Given the description of an element on the screen output the (x, y) to click on. 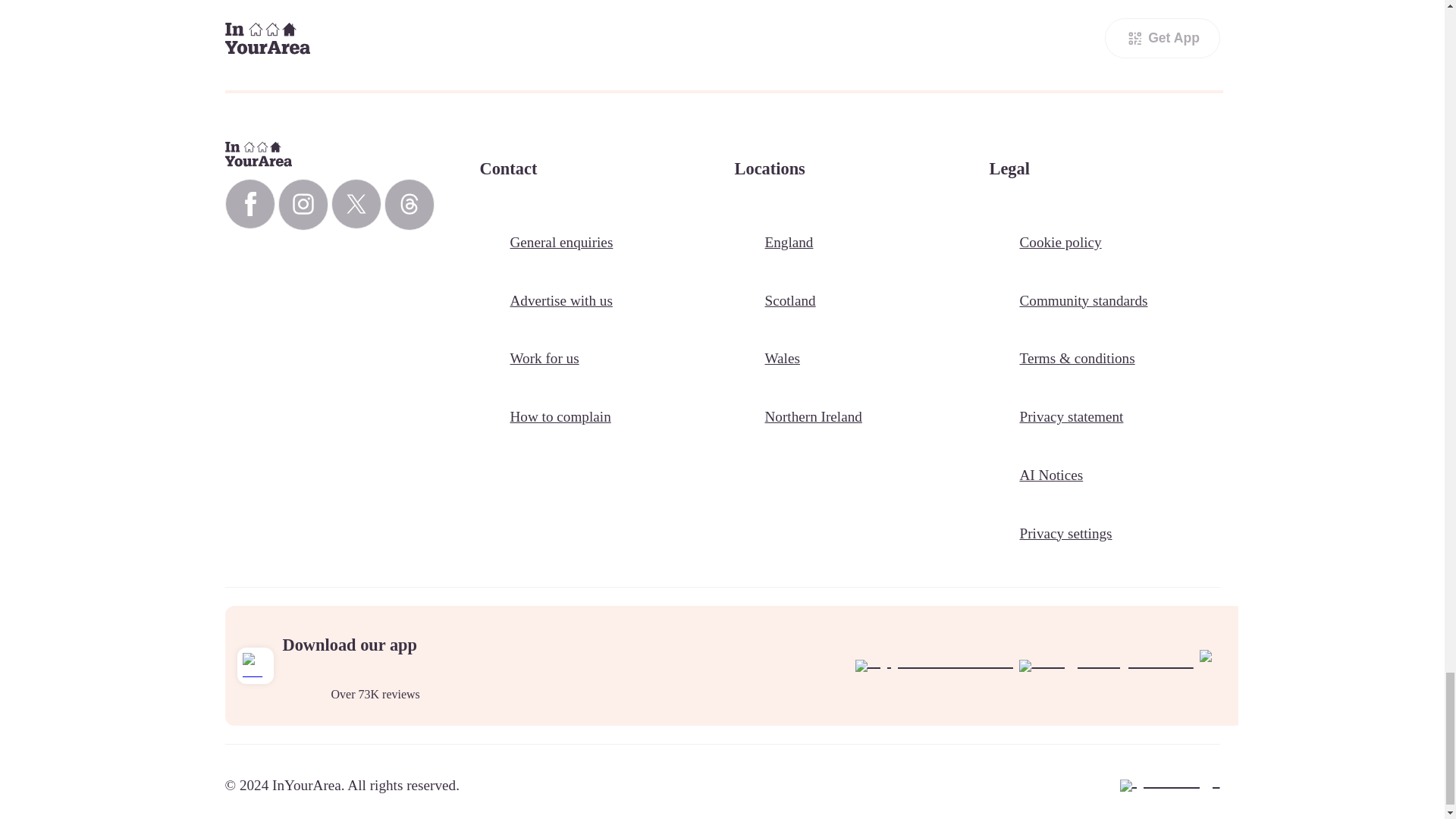
InYourArea Instagram (302, 204)
InYourArea X (355, 204)
InYourArea Threads (408, 204)
InYourArea Facebook (249, 204)
